Given the description of an element on the screen output the (x, y) to click on. 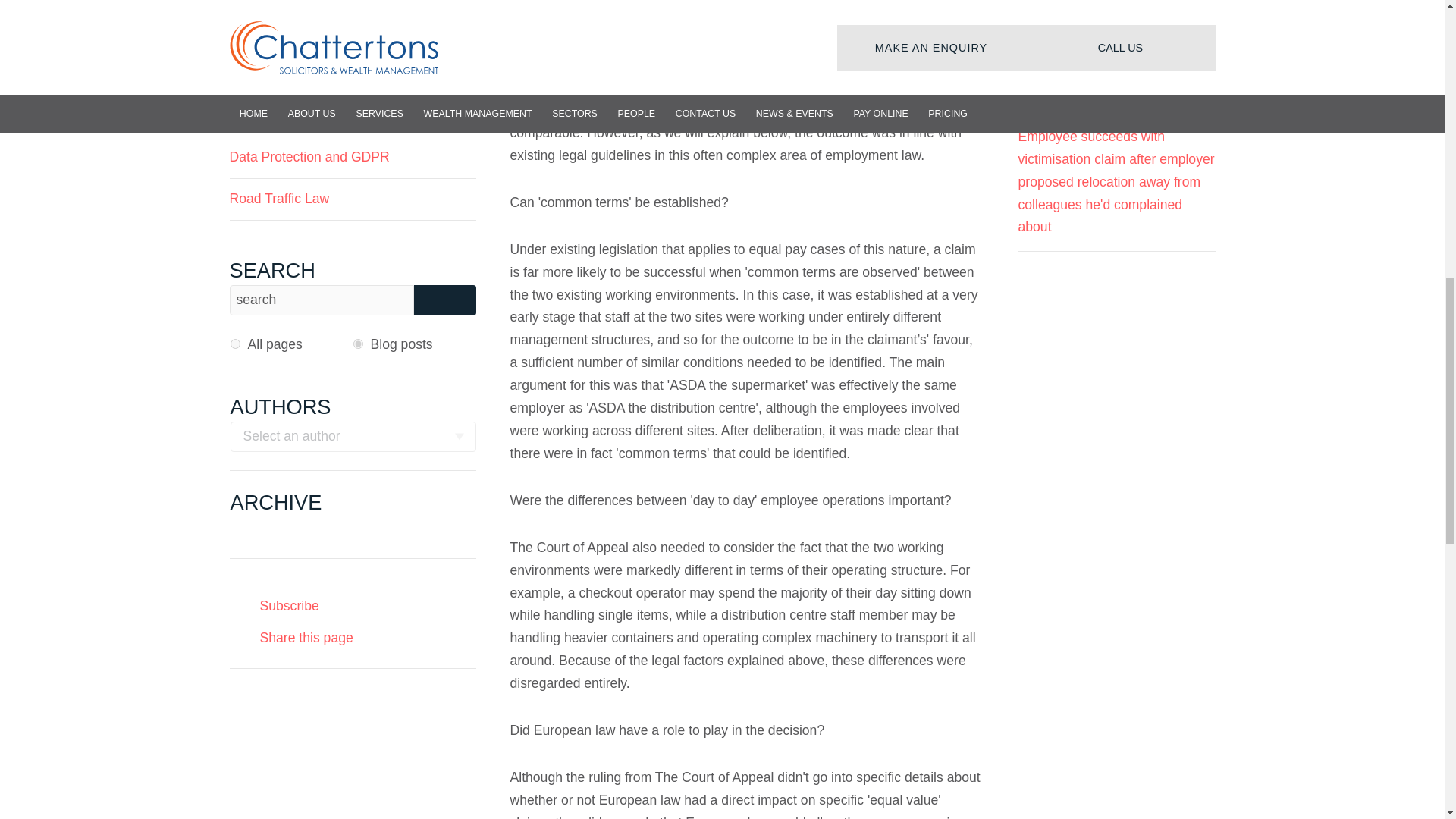
blogs (357, 343)
blogs (357, 343)
search (320, 300)
all pages (235, 343)
search (320, 300)
all pages (235, 343)
